Given the description of an element on the screen output the (x, y) to click on. 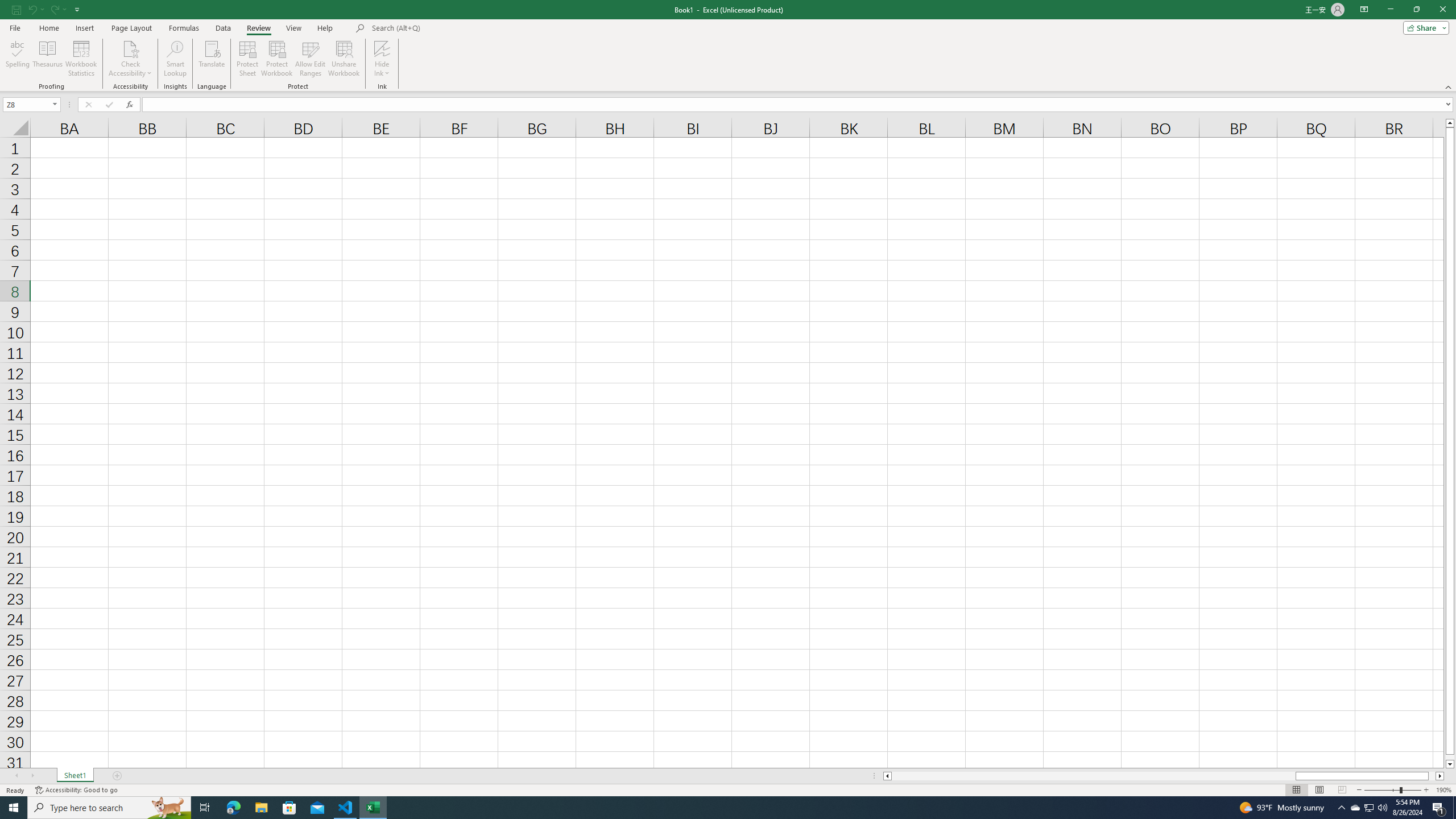
Protect Workbook... (277, 58)
Thesaurus... (47, 58)
